Given the description of an element on the screen output the (x, y) to click on. 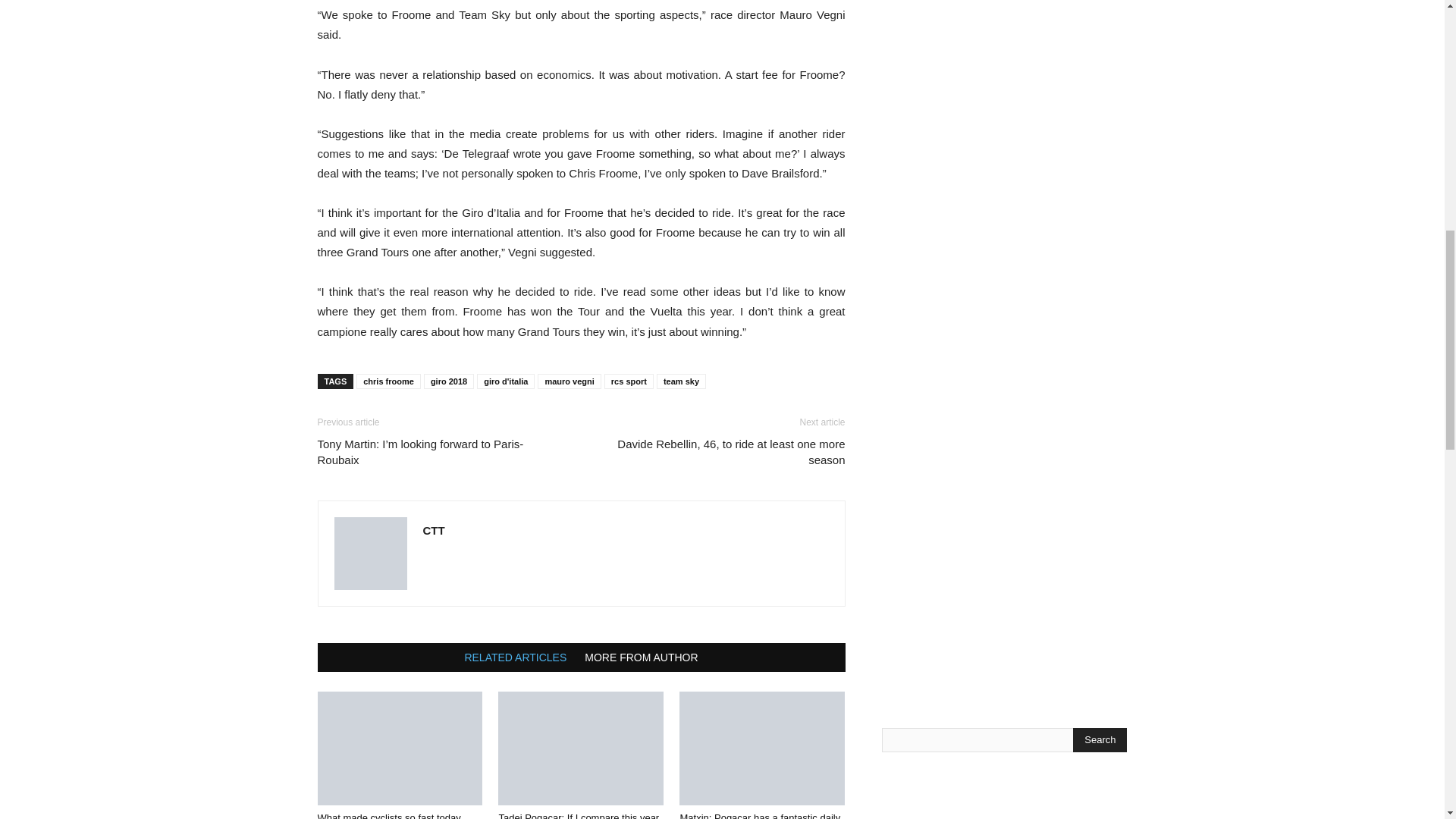
Search (1099, 740)
What made cyclists so fast today compared to 5 years ago? (399, 748)
Matxin: Pogacar has a fantastic daily recovery (761, 748)
What made cyclists so fast today compared to 5 years ago? (388, 815)
